Given the description of an element on the screen output the (x, y) to click on. 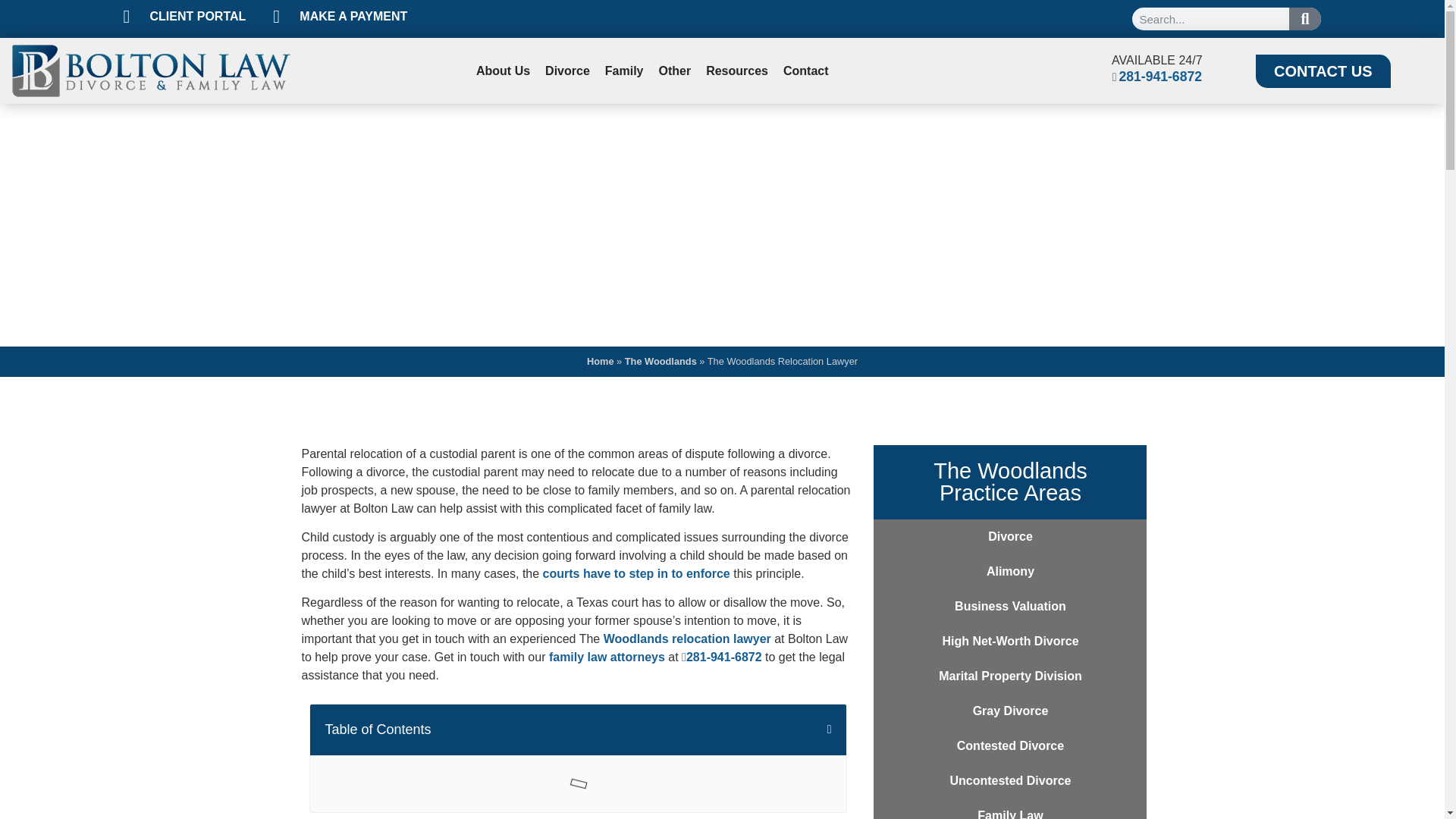
MAKE A PAYMENT (340, 16)
Resources (737, 71)
About Us (502, 71)
Divorce (566, 71)
Family (623, 71)
CLIENT PORTAL (184, 16)
Other (674, 71)
